Given the description of an element on the screen output the (x, y) to click on. 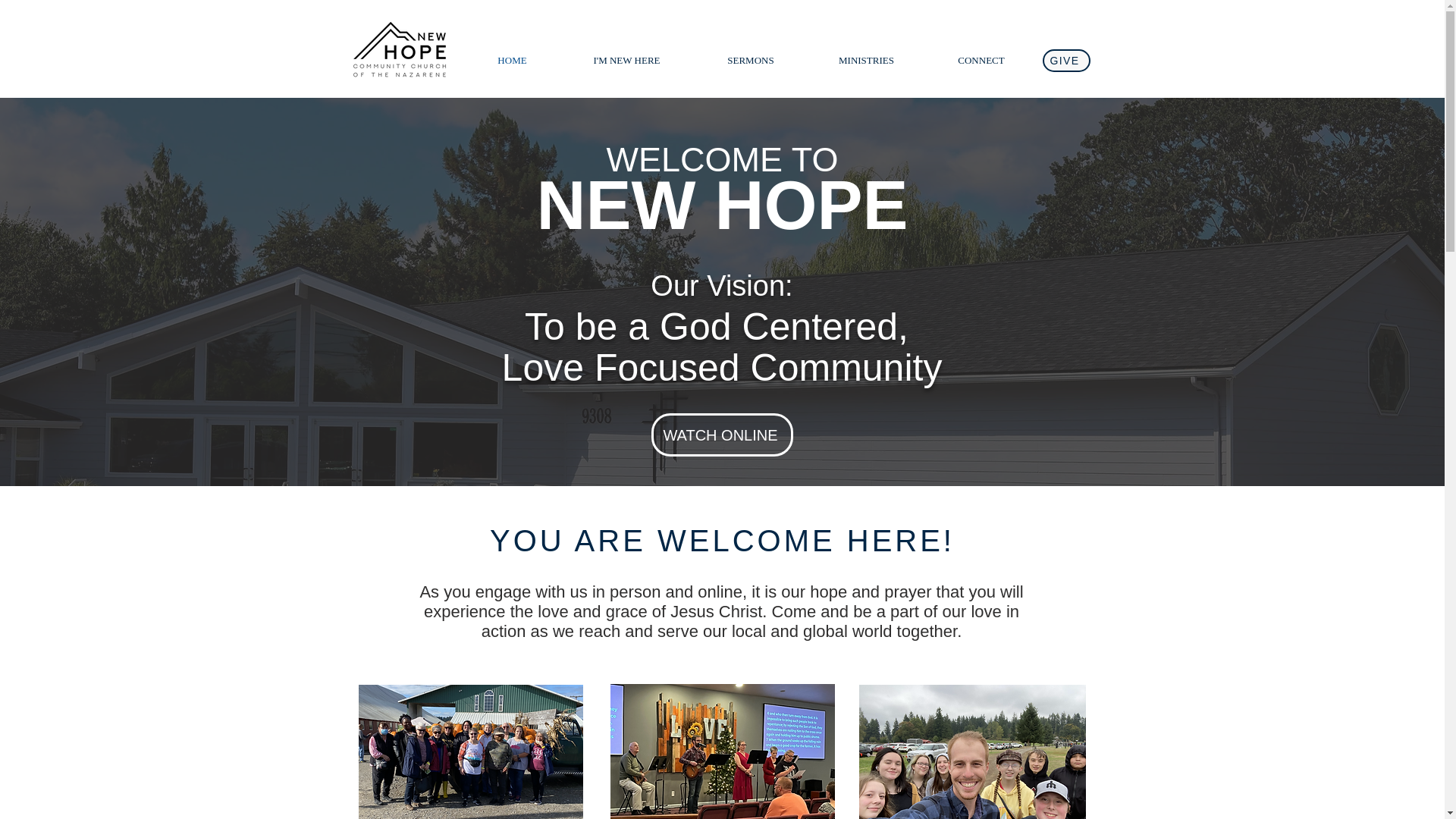
WATCH ONLINE (721, 434)
SERMONS (751, 60)
CONNECT (980, 60)
I'M NEW HERE (626, 60)
GIVE (1065, 60)
MINISTRIES (865, 60)
HOME (512, 60)
